Given the description of an element on the screen output the (x, y) to click on. 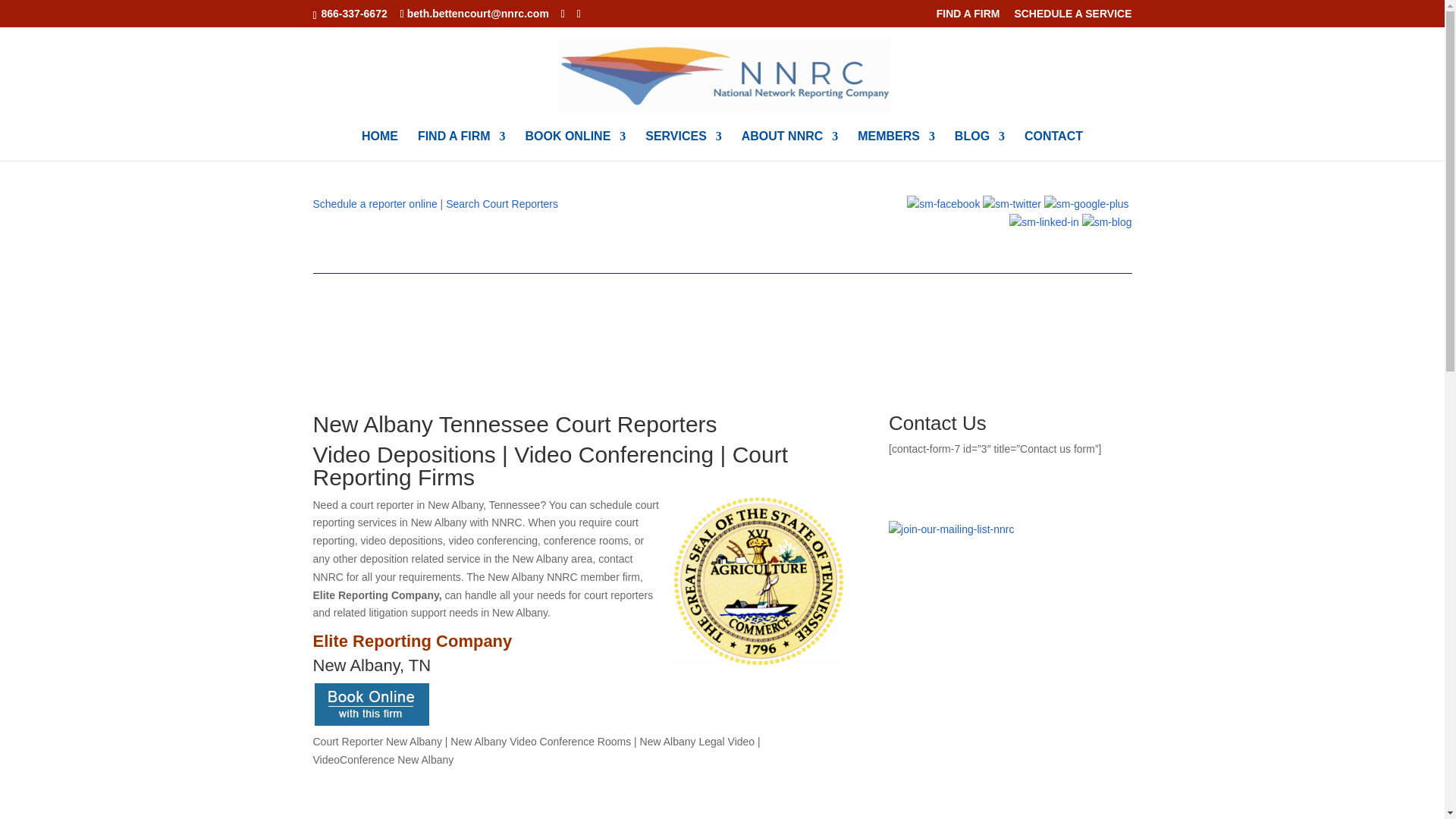
BOOK ONLINE (575, 145)
HOME (379, 145)
FIND A FIRM (968, 16)
FIND A FIRM (461, 145)
SERVICES (683, 145)
SCHEDULE A SERVICE (1072, 16)
